Given the description of an element on the screen output the (x, y) to click on. 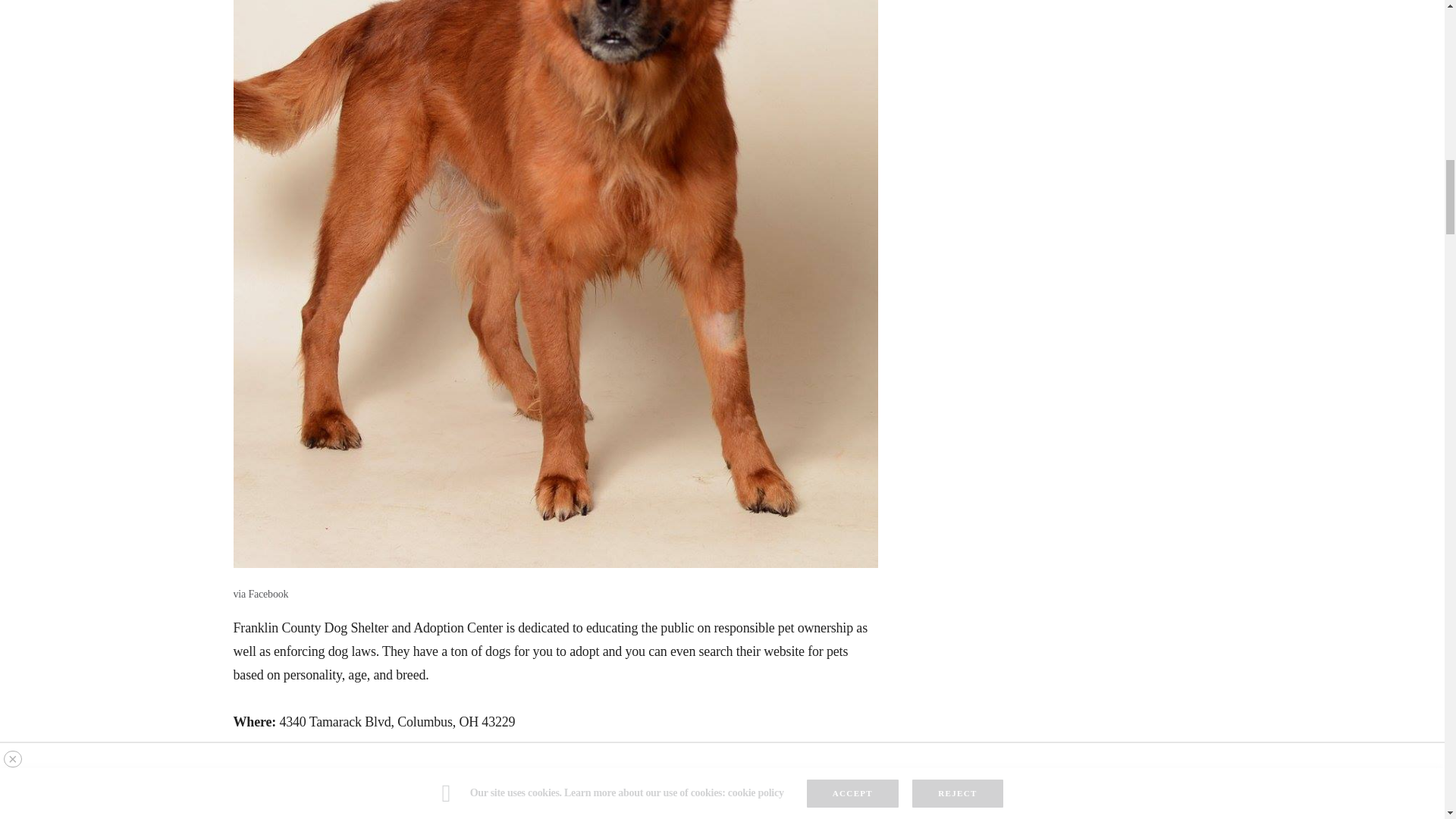
Columbus Humane (554, 779)
